Given the description of an element on the screen output the (x, y) to click on. 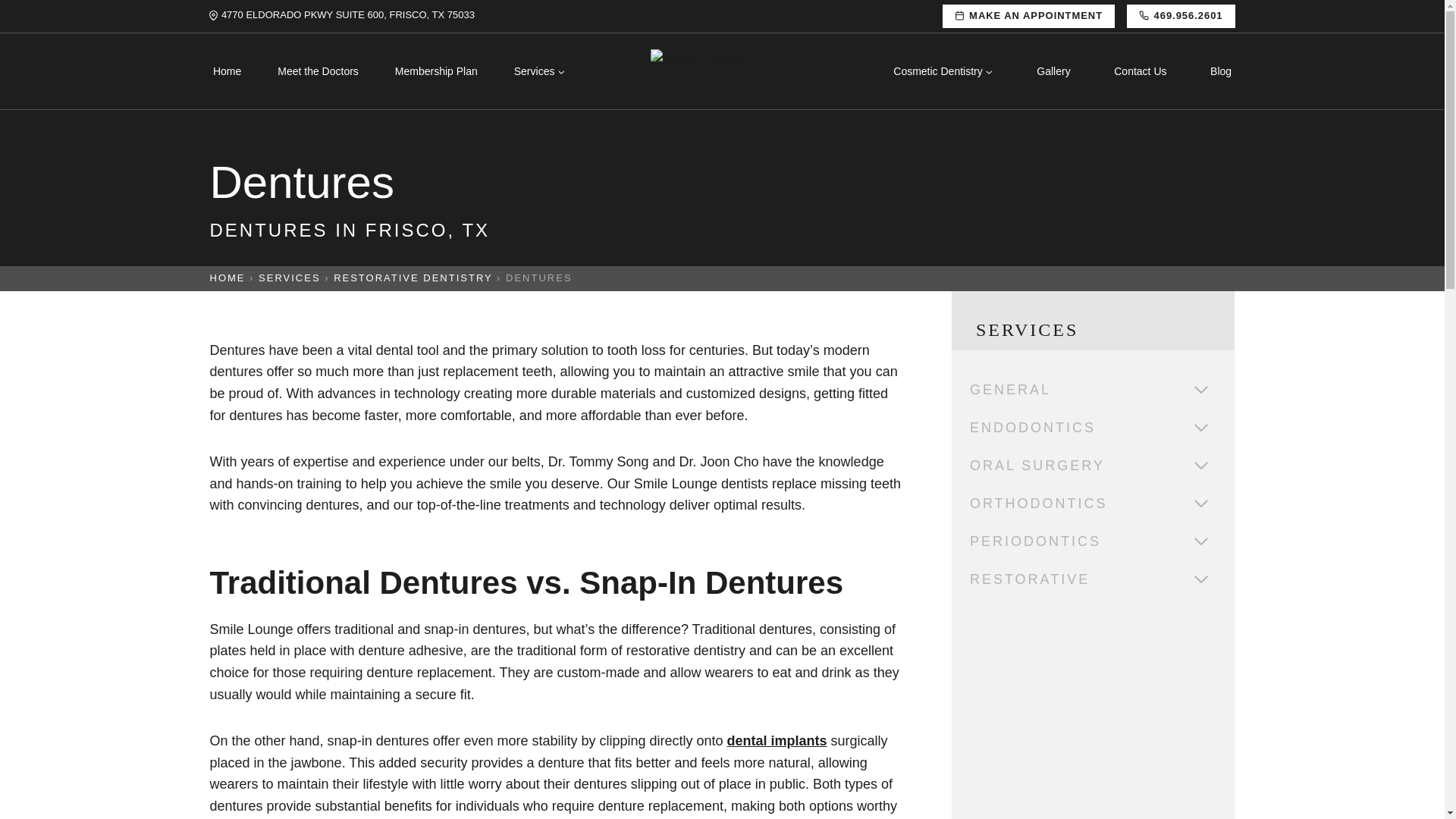
Meet the Doctors (317, 70)
Cosmetic Dentistry (942, 70)
4770 ELDORADO PKWY SUITE 600, FRISCO, TX 75033 (341, 15)
MAKE AN APPOINTMENT (1028, 15)
Contact Us (1140, 70)
Services (538, 70)
Gallery (1053, 70)
Home (226, 70)
Membership Plan (435, 70)
469.956.2601 (1180, 15)
